Given the description of an element on the screen output the (x, y) to click on. 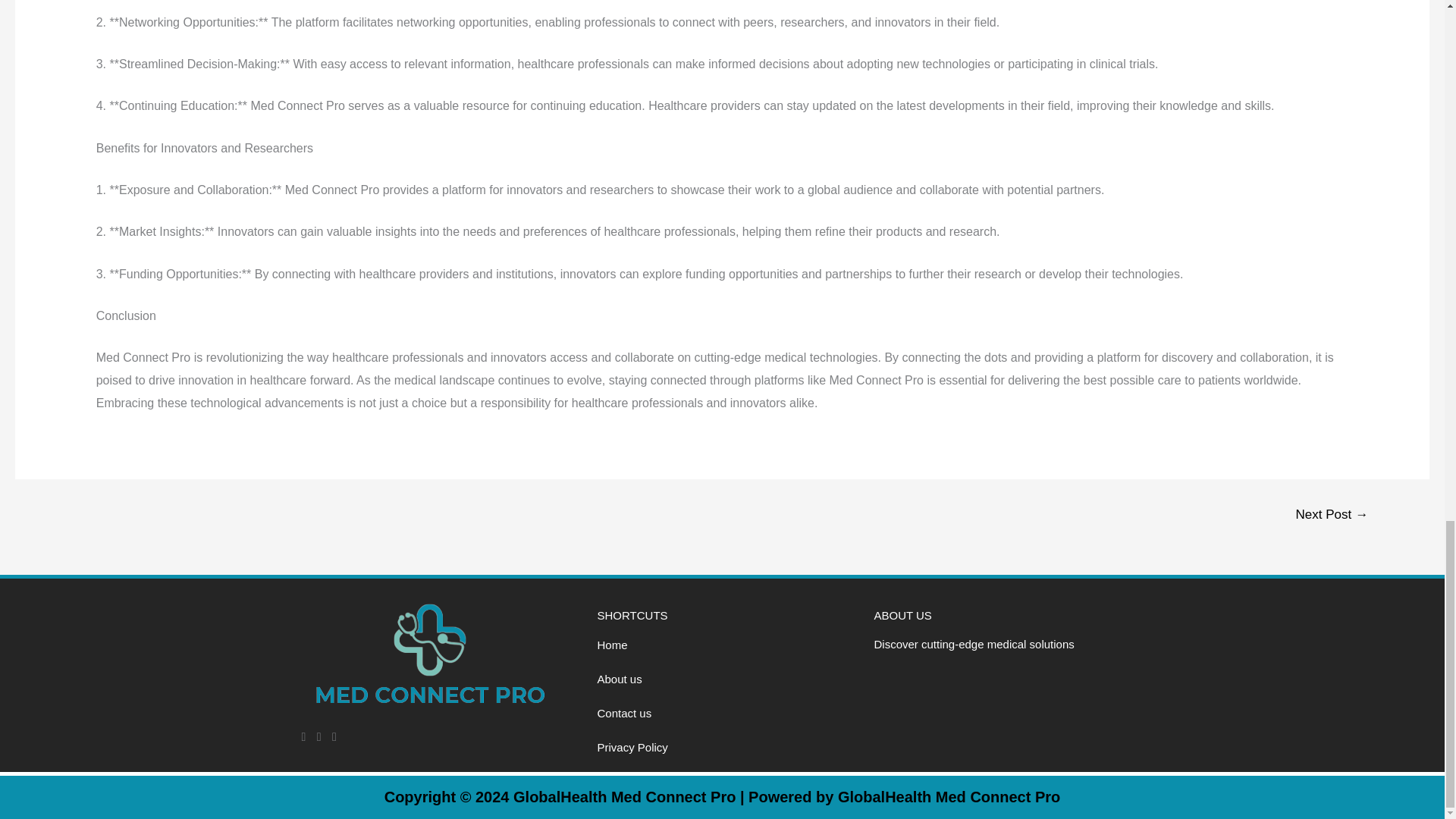
Privacy Policy (722, 747)
Contact us (722, 713)
Home (722, 644)
About us (722, 678)
